Given the description of an element on the screen output the (x, y) to click on. 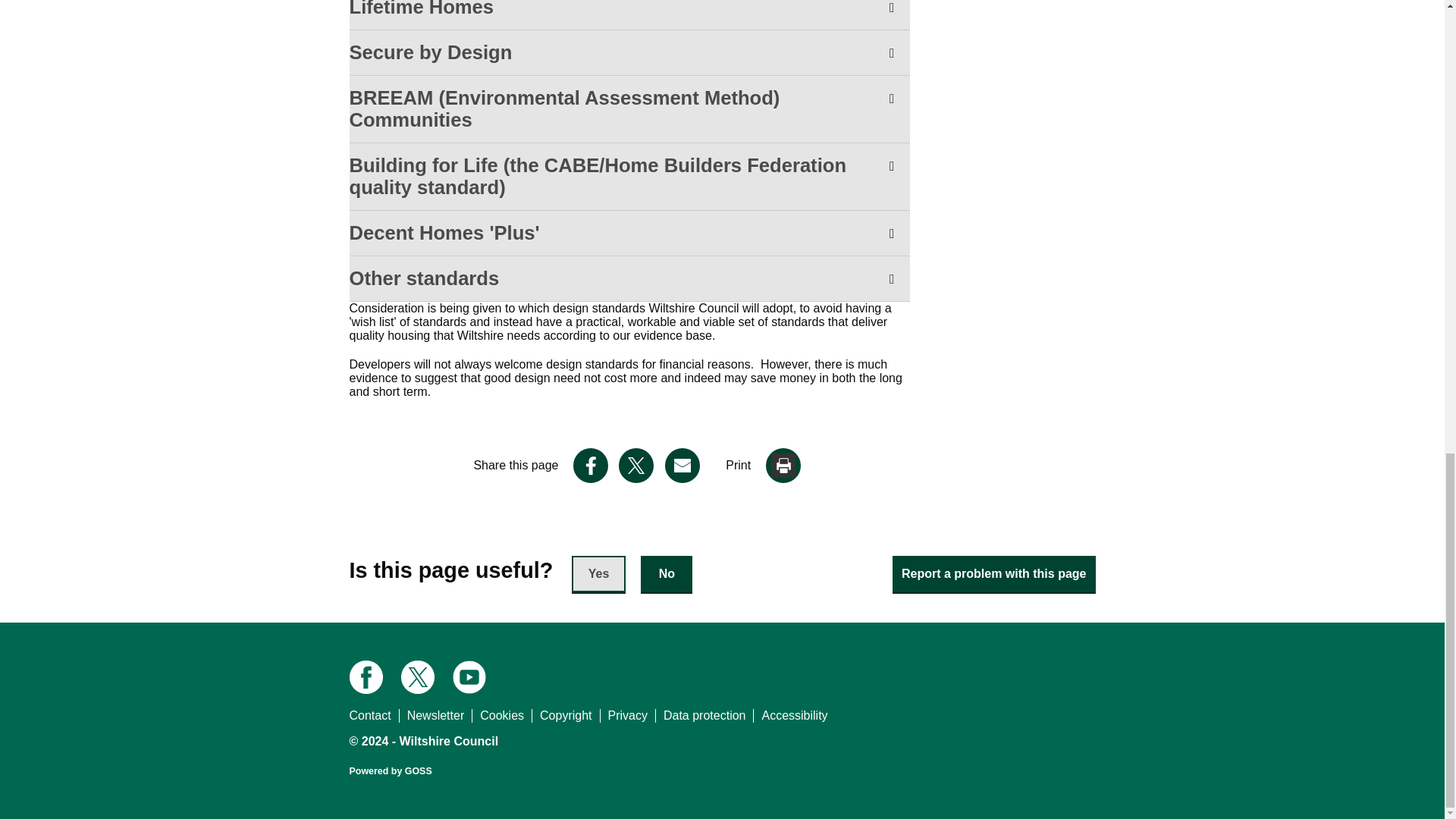
X: Wiltshire Council (417, 676)
YouTube: Wiltshire Council (469, 676)
Facebook: Wiltshire Council (365, 676)
